Given the description of an element on the screen output the (x, y) to click on. 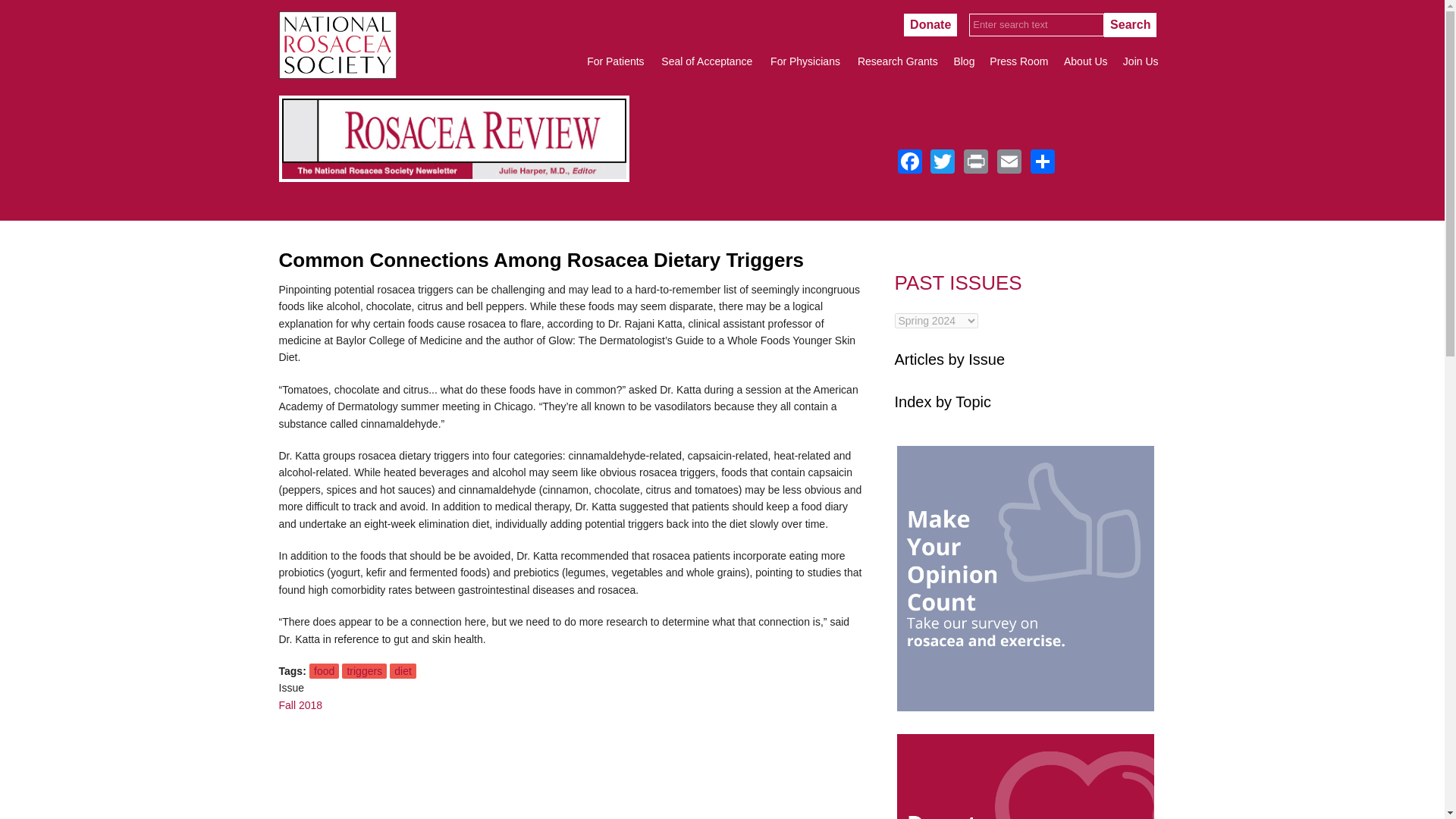
Home (337, 74)
For Patients (615, 61)
Search (1129, 24)
